Given the description of an element on the screen output the (x, y) to click on. 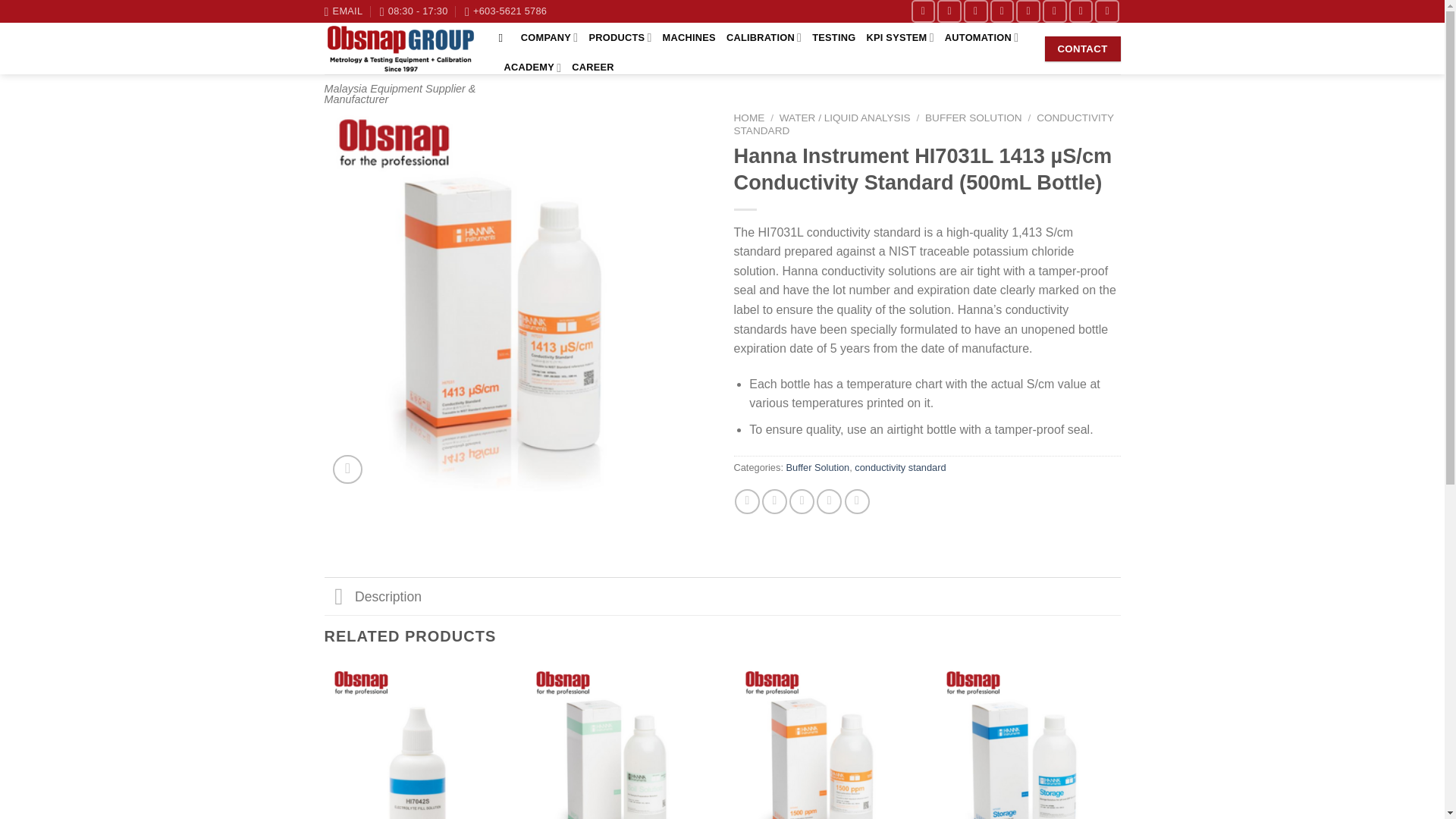
PRODUCTS (619, 37)
Follow on YouTube (1106, 11)
08:30 - 17:30  (414, 11)
Send us an email (975, 11)
Follow on Facebook (923, 11)
COMPANY (549, 37)
Follow on Twitter (948, 11)
Follow on Pinterest (1028, 11)
Follow on LinkedIn (1080, 11)
Call us (1002, 11)
